Given the description of an element on the screen output the (x, y) to click on. 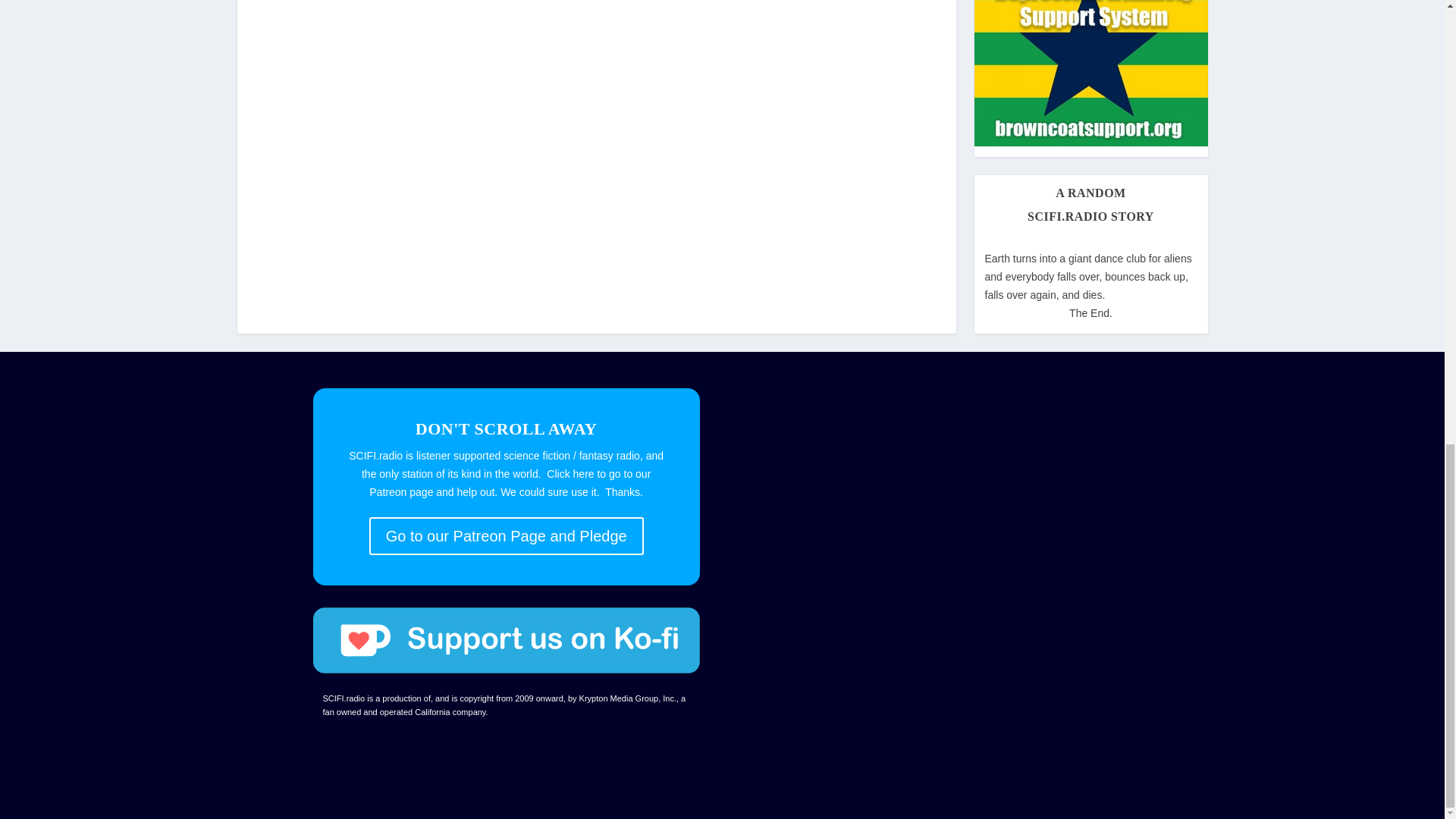
ko-fi-banner-300x51-1 (505, 640)
